Given the description of an element on the screen output the (x, y) to click on. 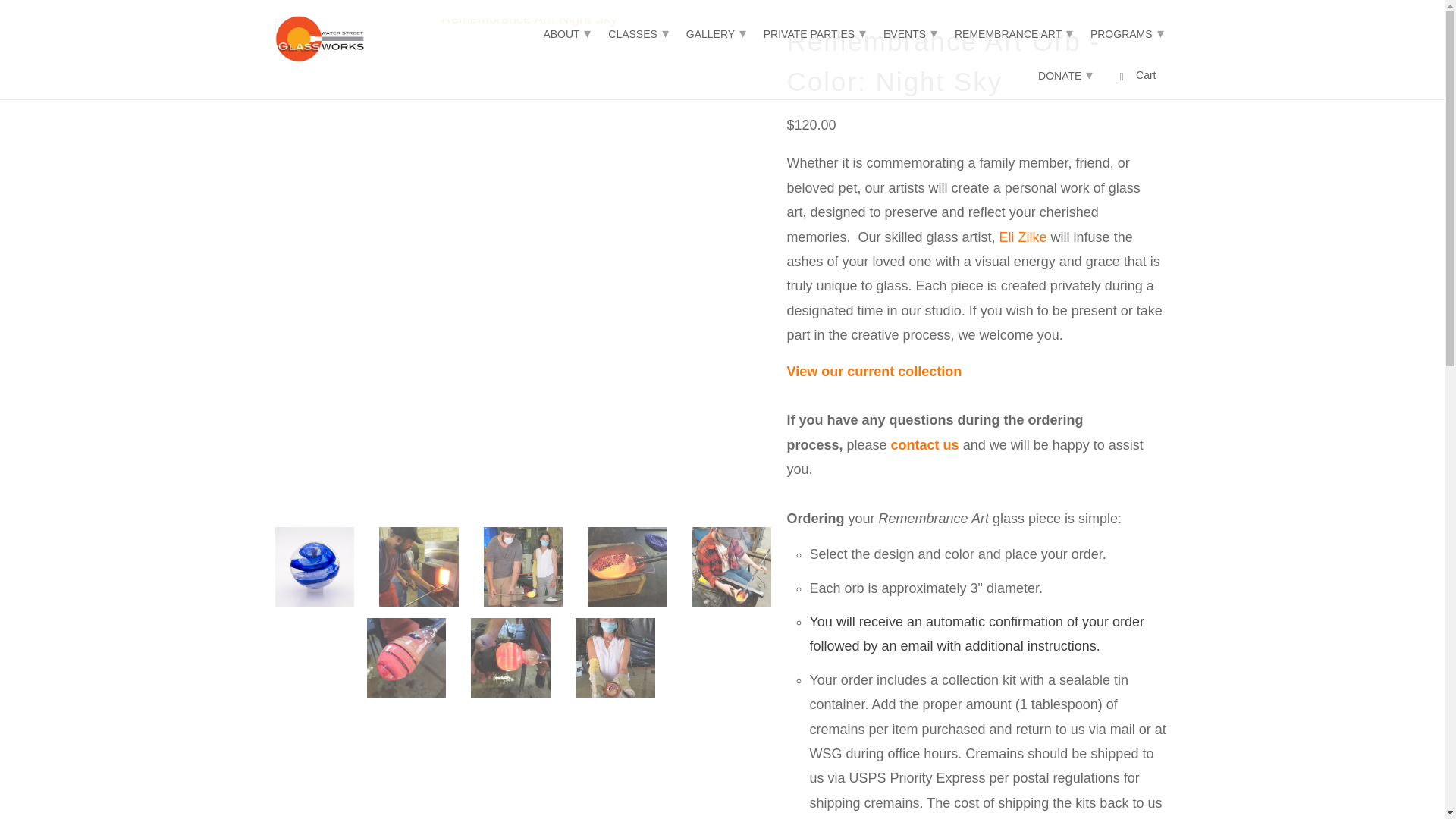
Contact Us (925, 444)
Remembrance Art: Night Sky (523, 24)
WSG glass artist Eli Zilke (1022, 237)
Remembrance Art Collection - memorial glass pieces (874, 383)
